Given the description of an element on the screen output the (x, y) to click on. 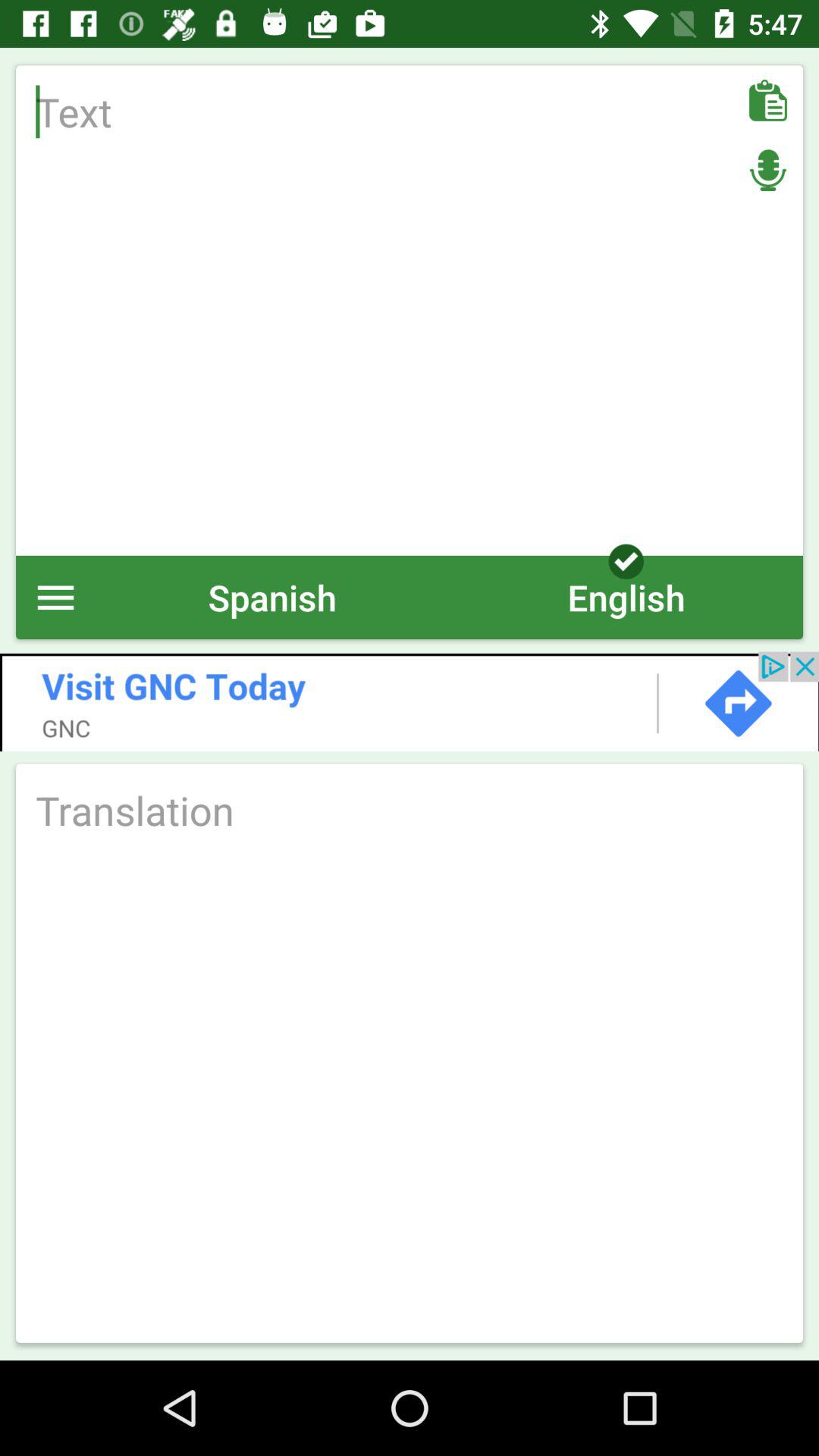
give a voice text (768, 170)
